Given the description of an element on the screen output the (x, y) to click on. 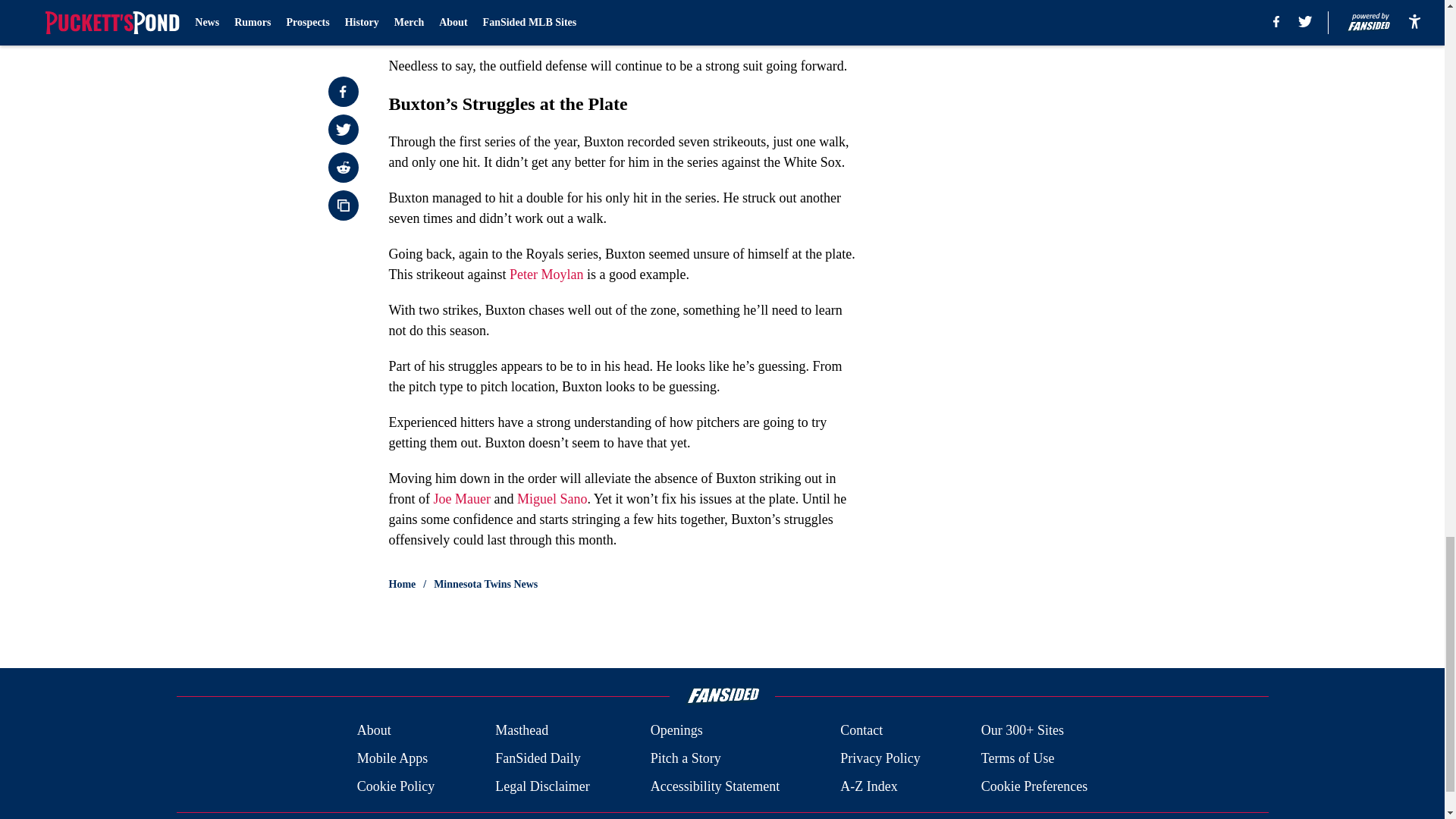
Privacy Policy (880, 758)
Joe Mauer (460, 498)
FanSided Daily (537, 758)
Minnesota Twins News (485, 584)
Miguel Sano (552, 498)
Home (401, 584)
Pitch a Story (685, 758)
Peter Moylan (546, 273)
Contact (861, 730)
About (373, 730)
Mobile Apps (392, 758)
Terms of Use (1017, 758)
Openings (676, 730)
Masthead (521, 730)
